Given the description of an element on the screen output the (x, y) to click on. 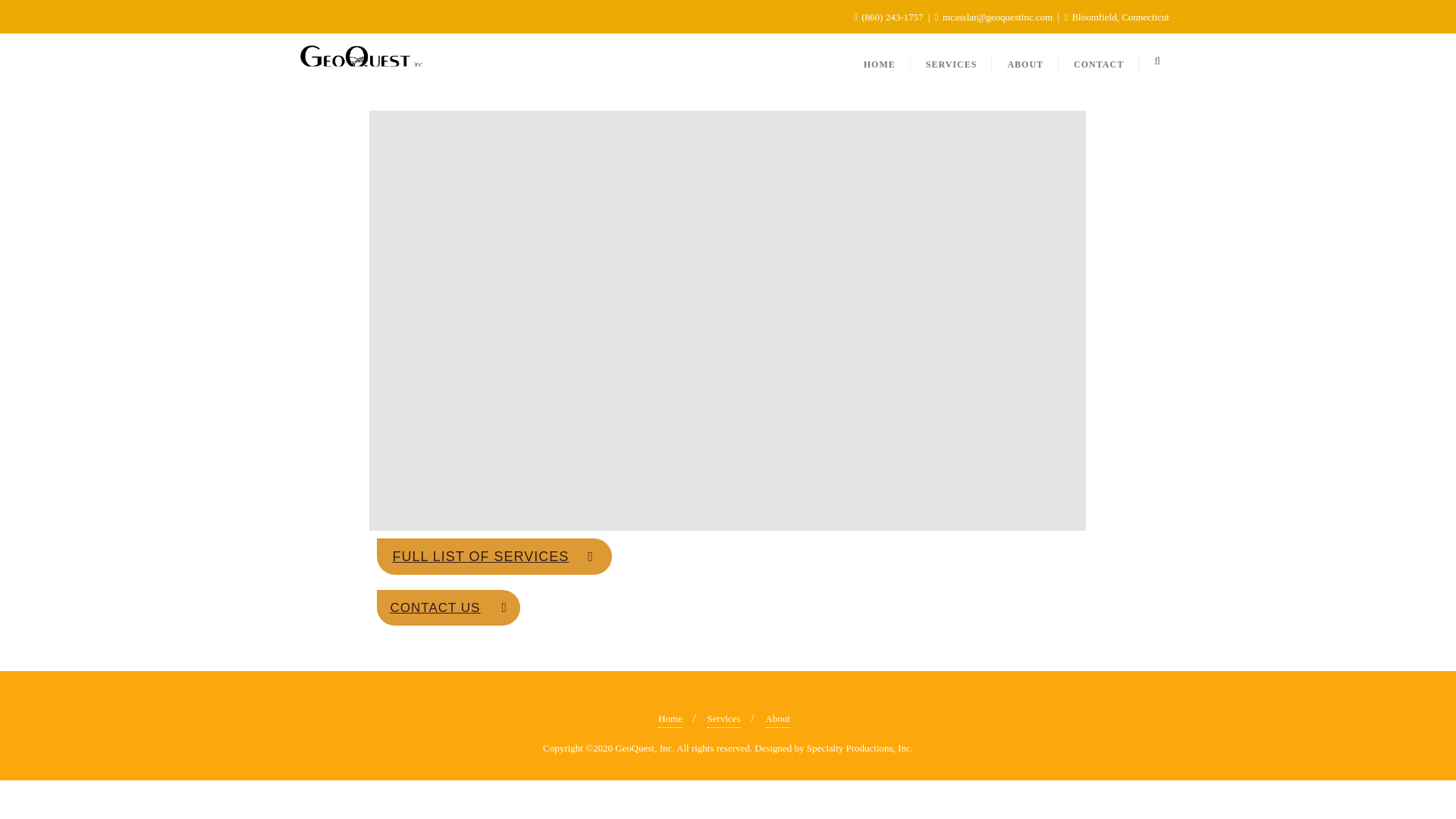
Services (724, 719)
HOME (879, 60)
CONTACT US (448, 607)
CONTACT (1098, 60)
About (777, 719)
ABOUT (1024, 60)
FULL LIST OF SERVICES (494, 556)
Home (670, 719)
SERVICES (951, 60)
